Given the description of an element on the screen output the (x, y) to click on. 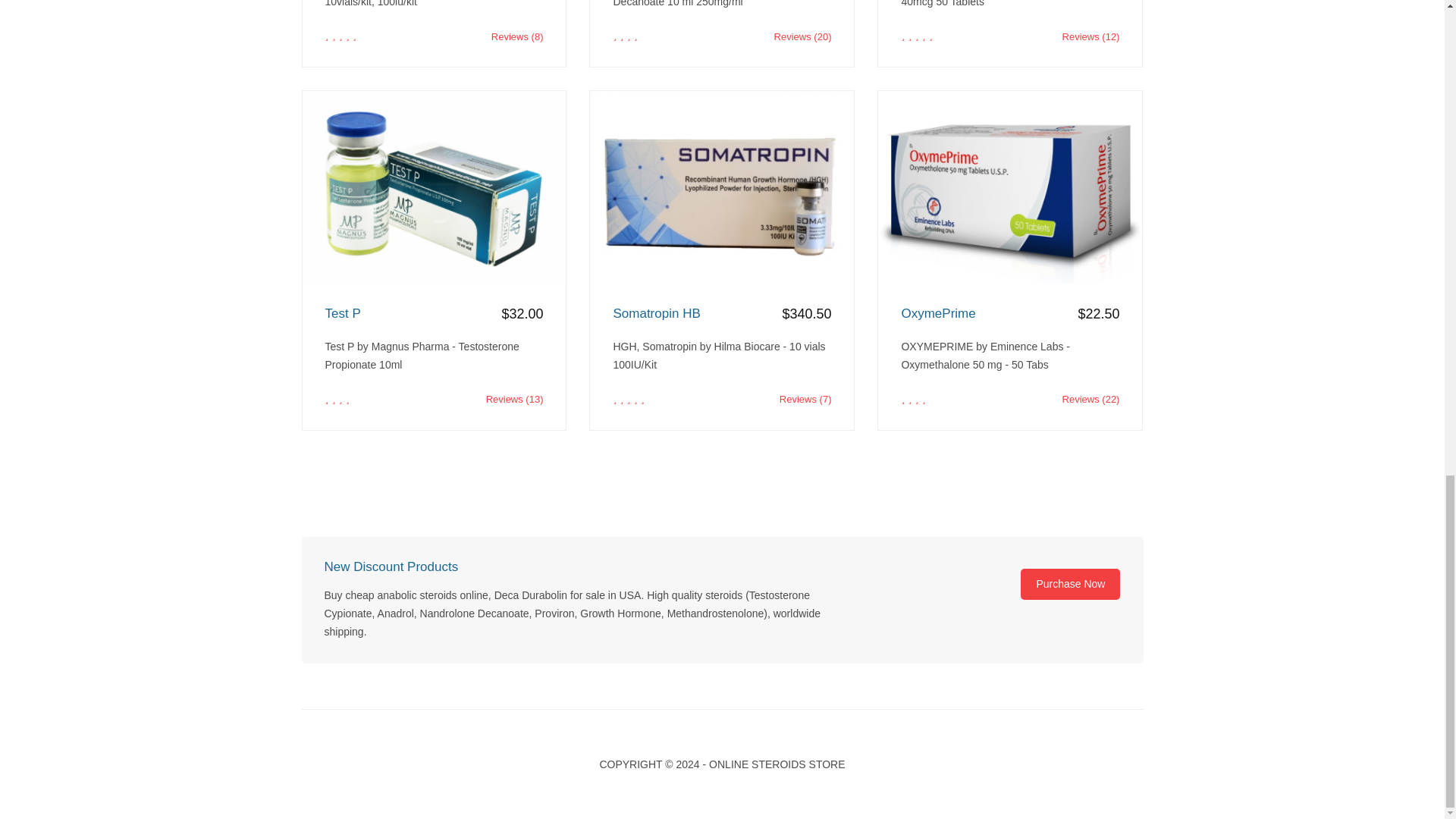
Test P (433, 313)
OxymePrime (1010, 313)
Purchase Now (1069, 583)
Somatropin HB (721, 313)
